Given the description of an element on the screen output the (x, y) to click on. 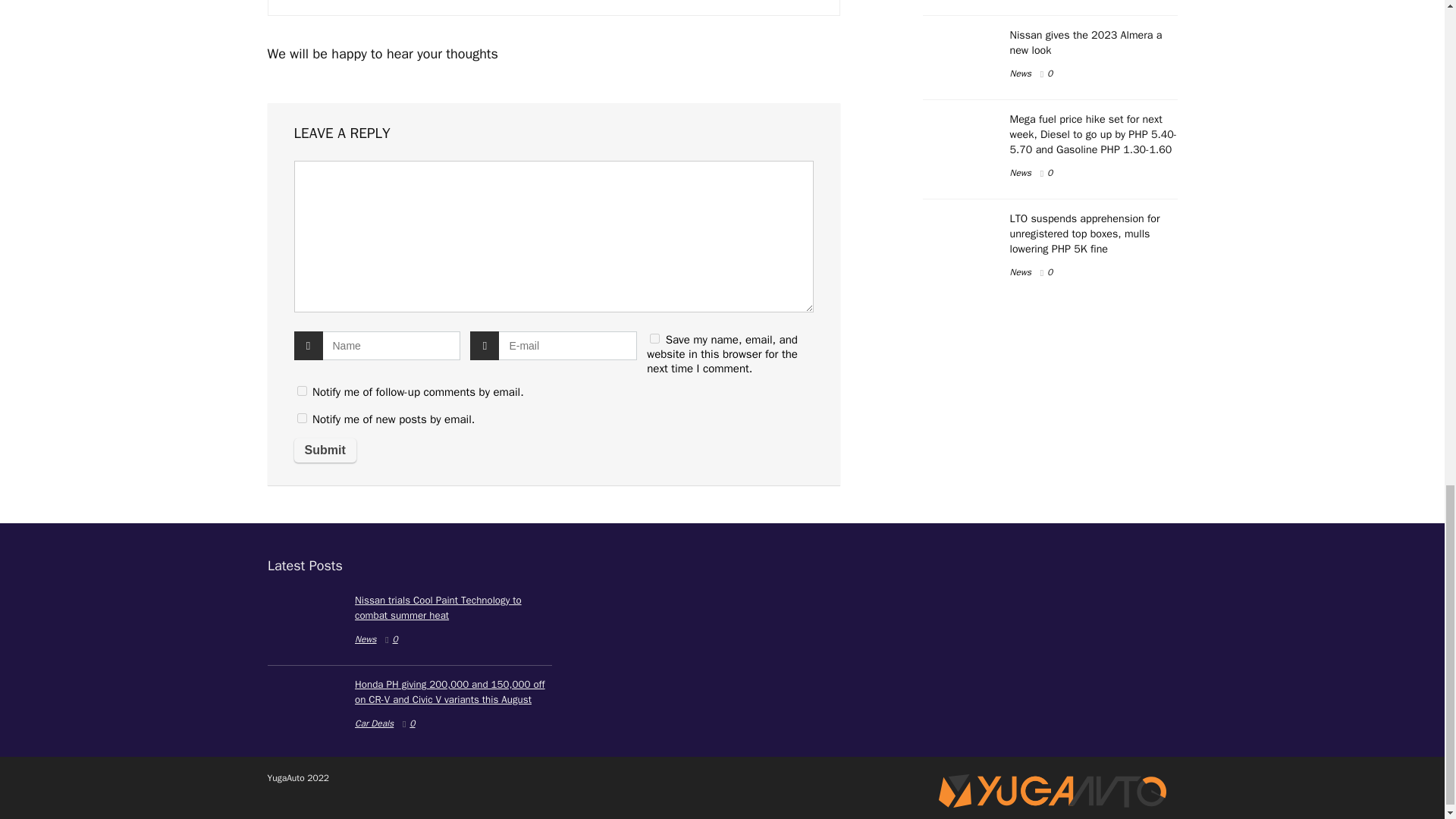
Submit (325, 450)
yes (654, 338)
Submit (325, 450)
subscribe (302, 390)
subscribe (302, 418)
